Given the description of an element on the screen output the (x, y) to click on. 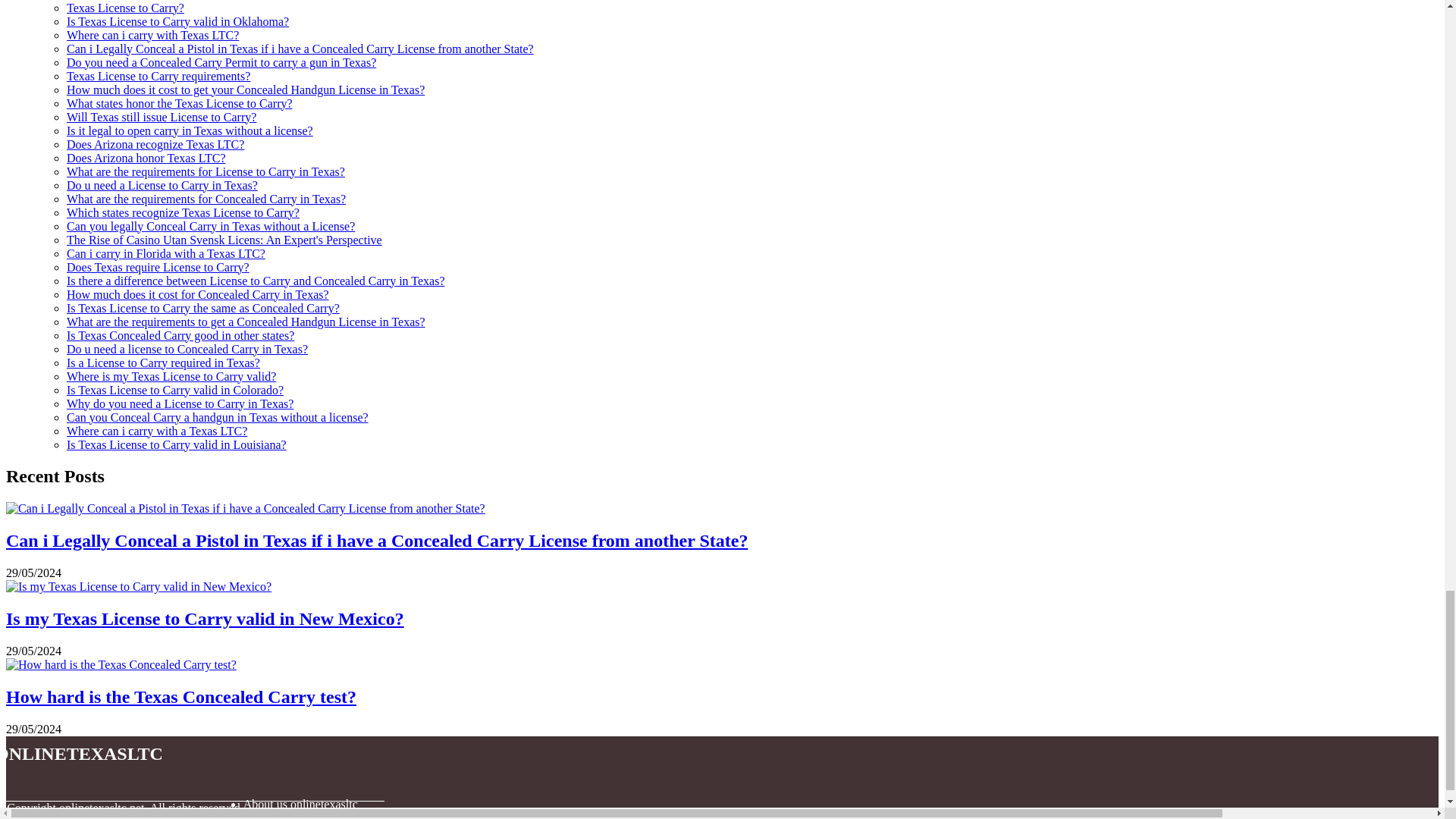
Where can i carry with Texas LTC? (152, 34)
Texas License to Carry? (125, 7)
Is Texas License to Carry valid in Oklahoma? (177, 21)
